Given the description of an element on the screen output the (x, y) to click on. 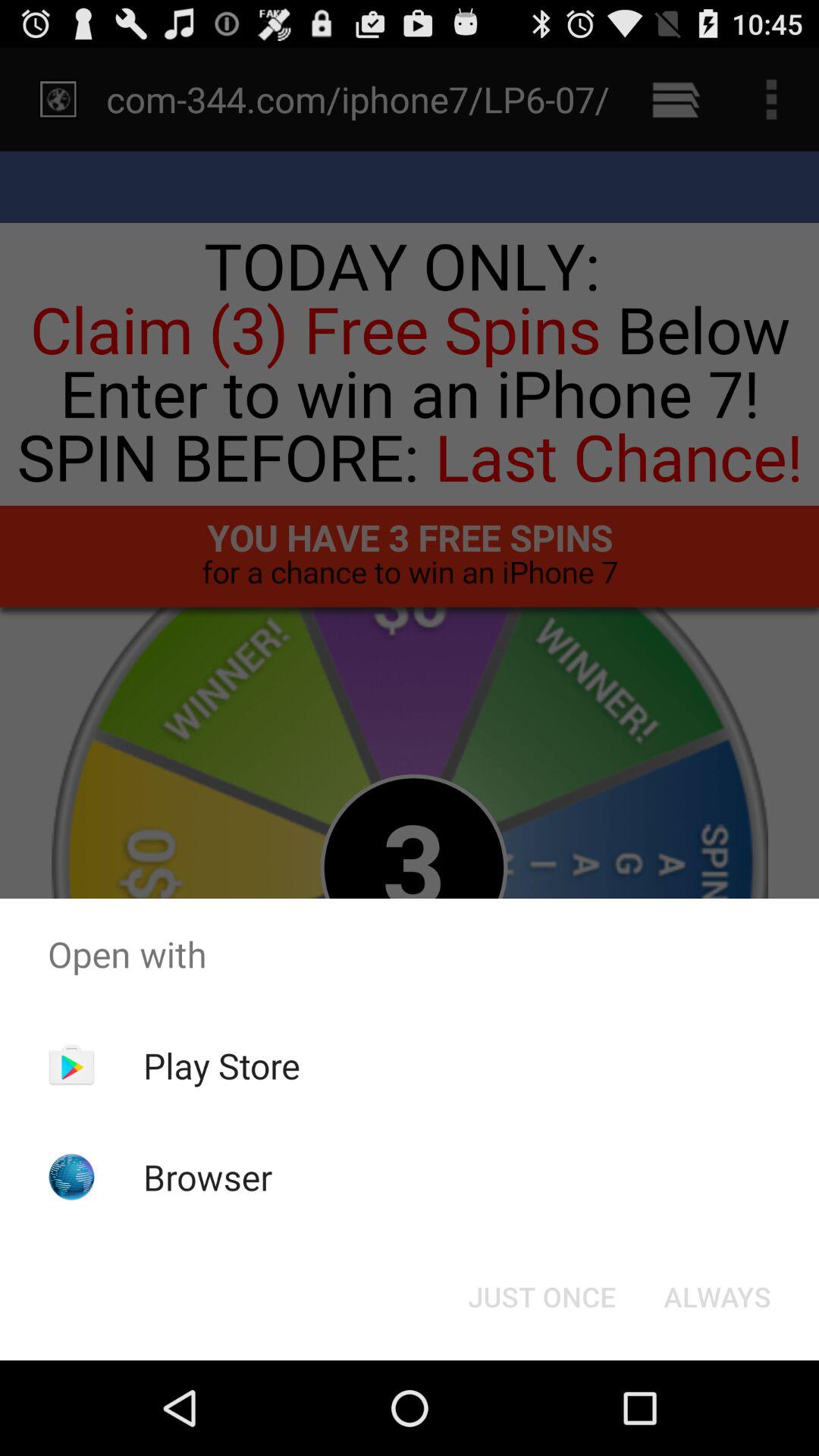
tap play store app (221, 1065)
